Given the description of an element on the screen output the (x, y) to click on. 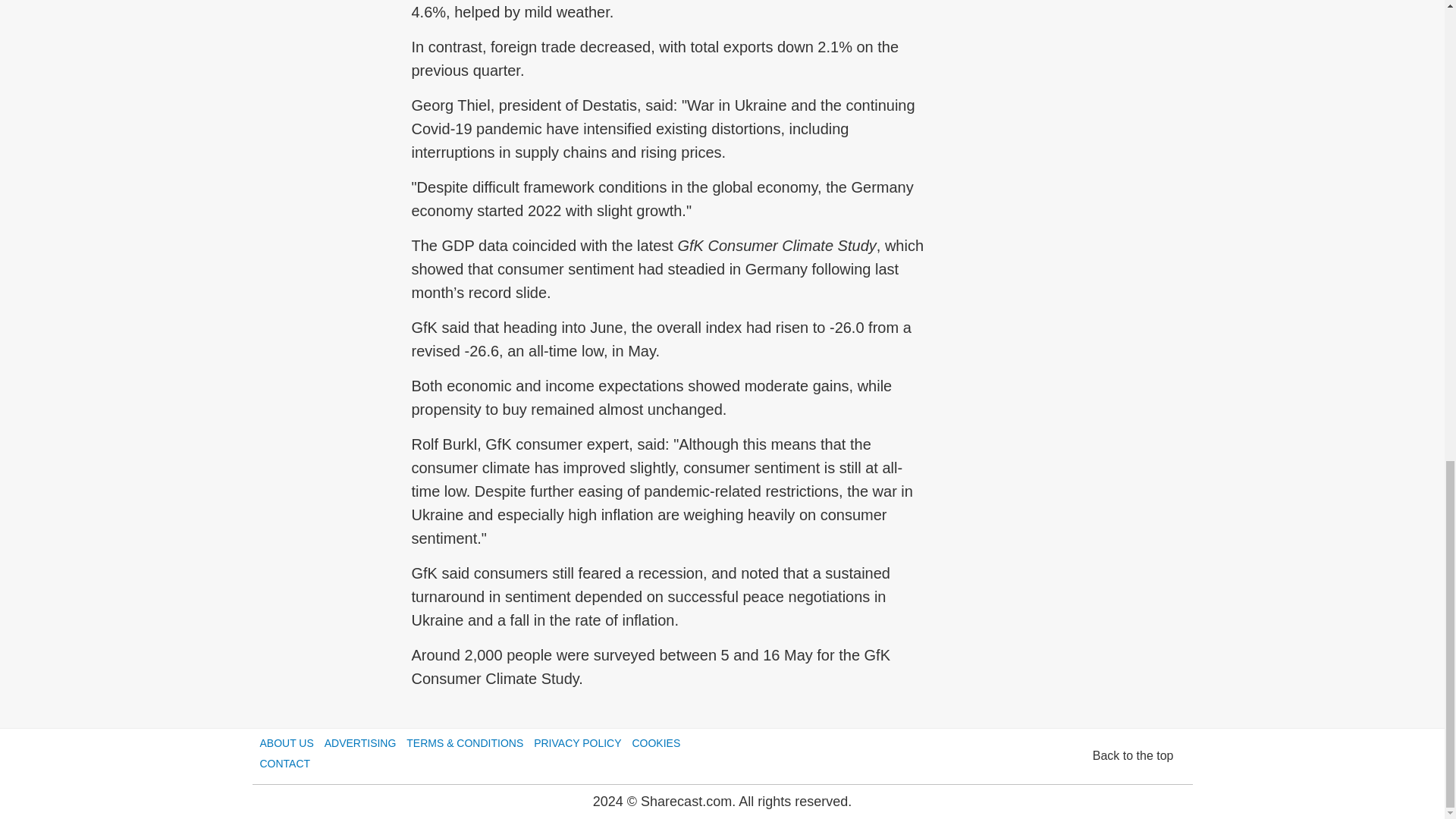
us flag 2 dl (295, 569)
